Given the description of an element on the screen output the (x, y) to click on. 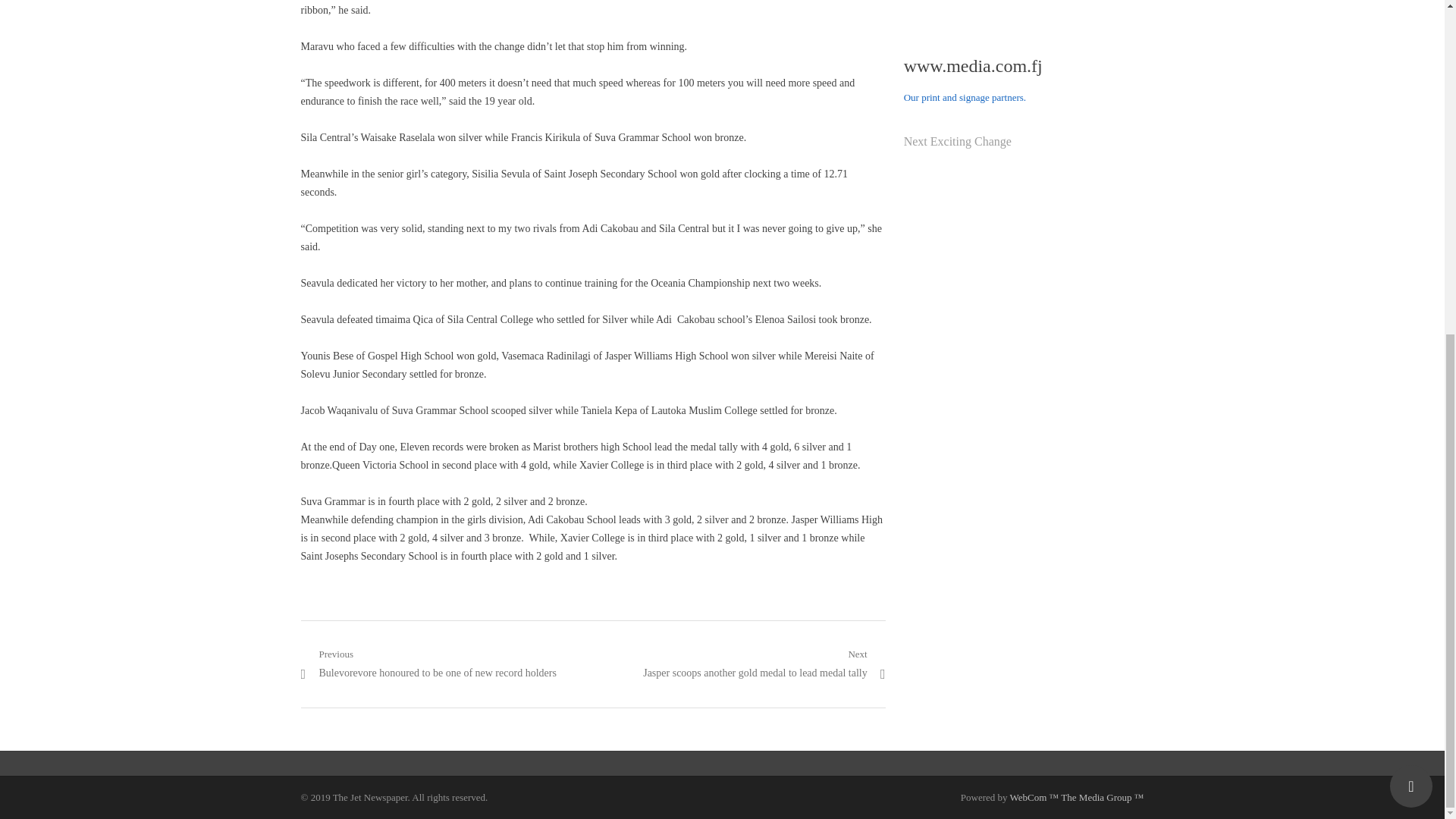
scroll to top (1411, 226)
Scroll to top (1411, 226)
